Given the description of an element on the screen output the (x, y) to click on. 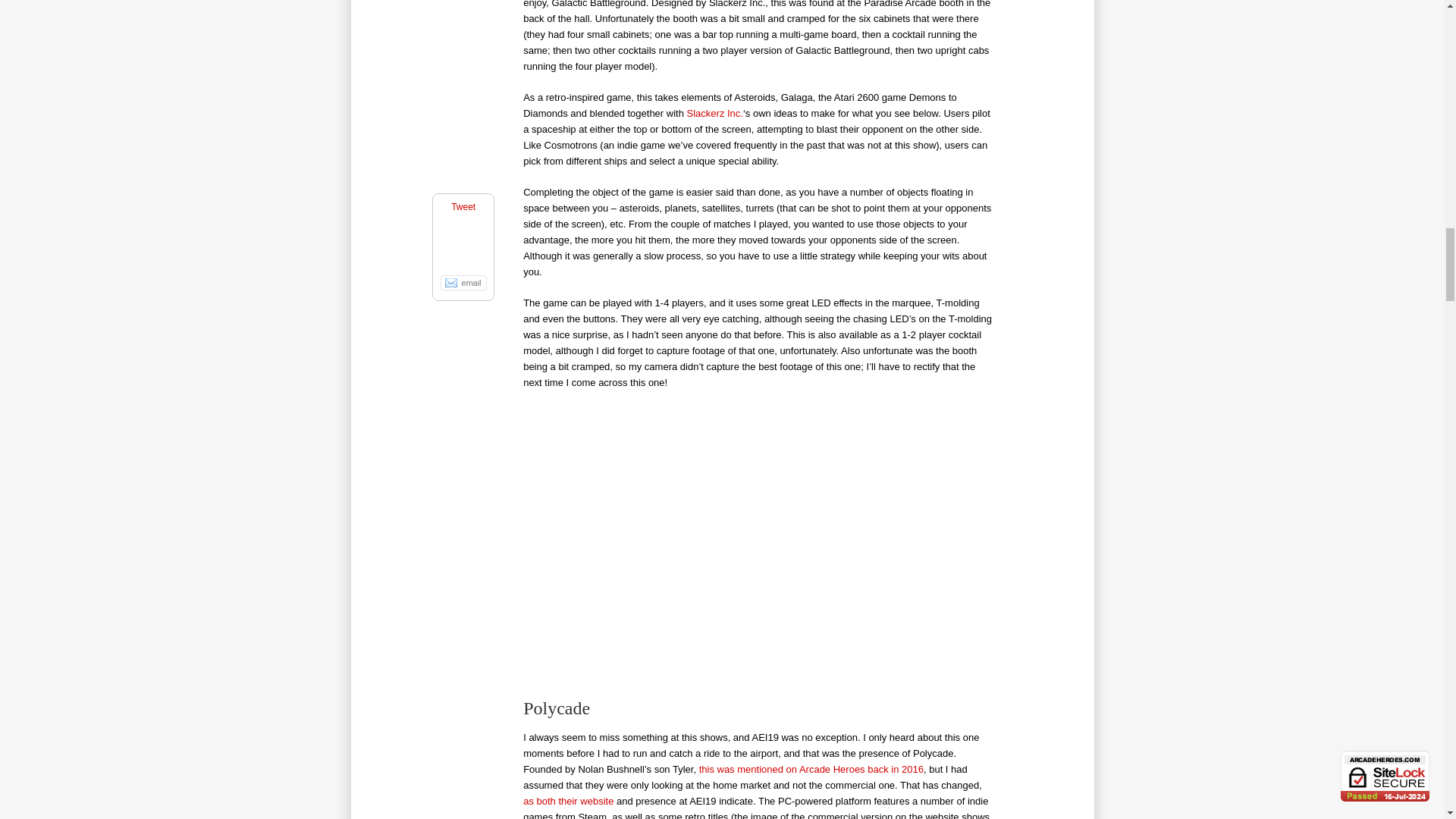
Slackerz Inc. (714, 112)
as both their website (567, 800)
this was mentioned on Arcade Heroes back in 2016 (810, 768)
